Given the description of an element on the screen output the (x, y) to click on. 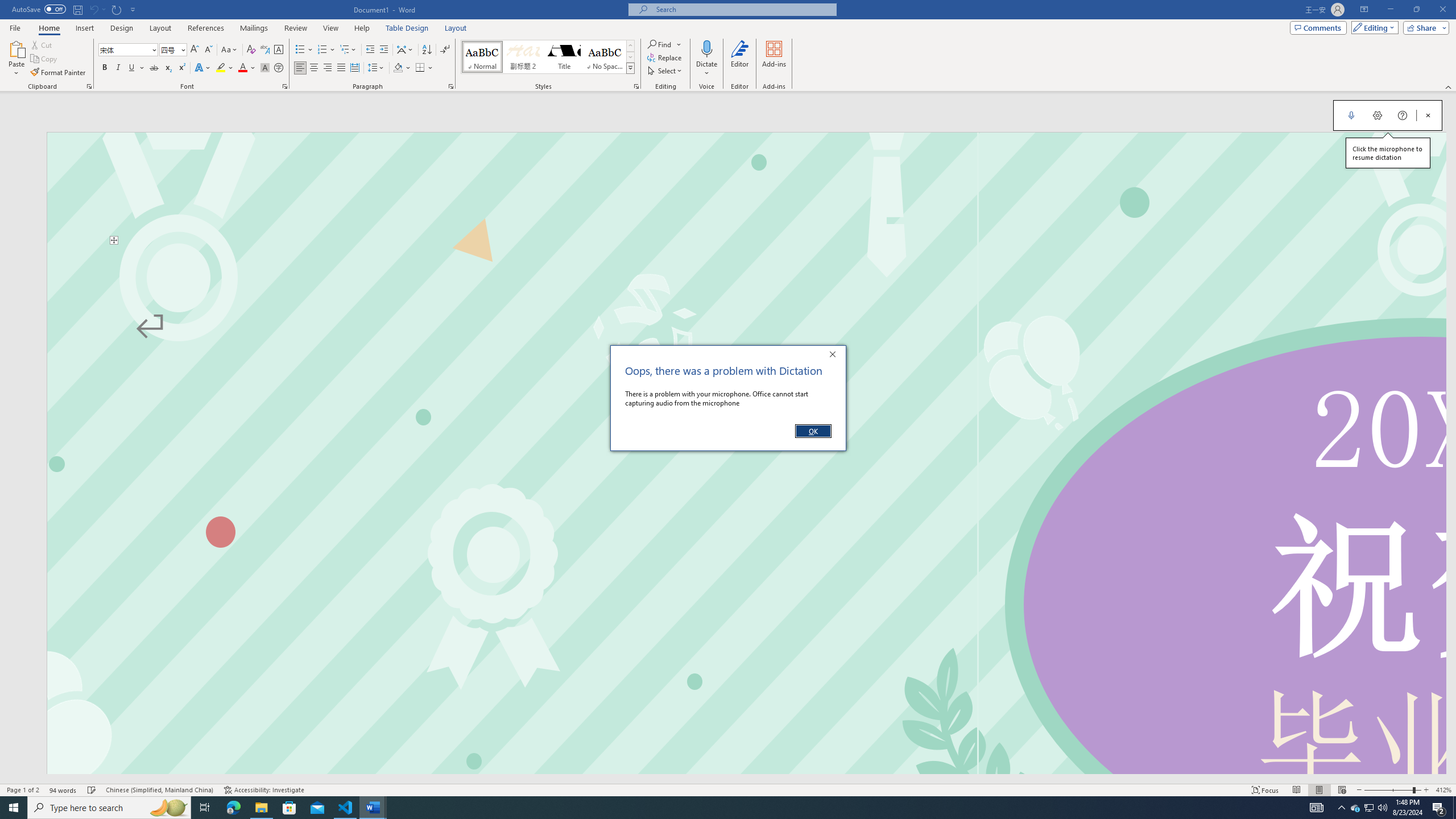
Start Dictation (1350, 115)
